Given the description of an element on the screen output the (x, y) to click on. 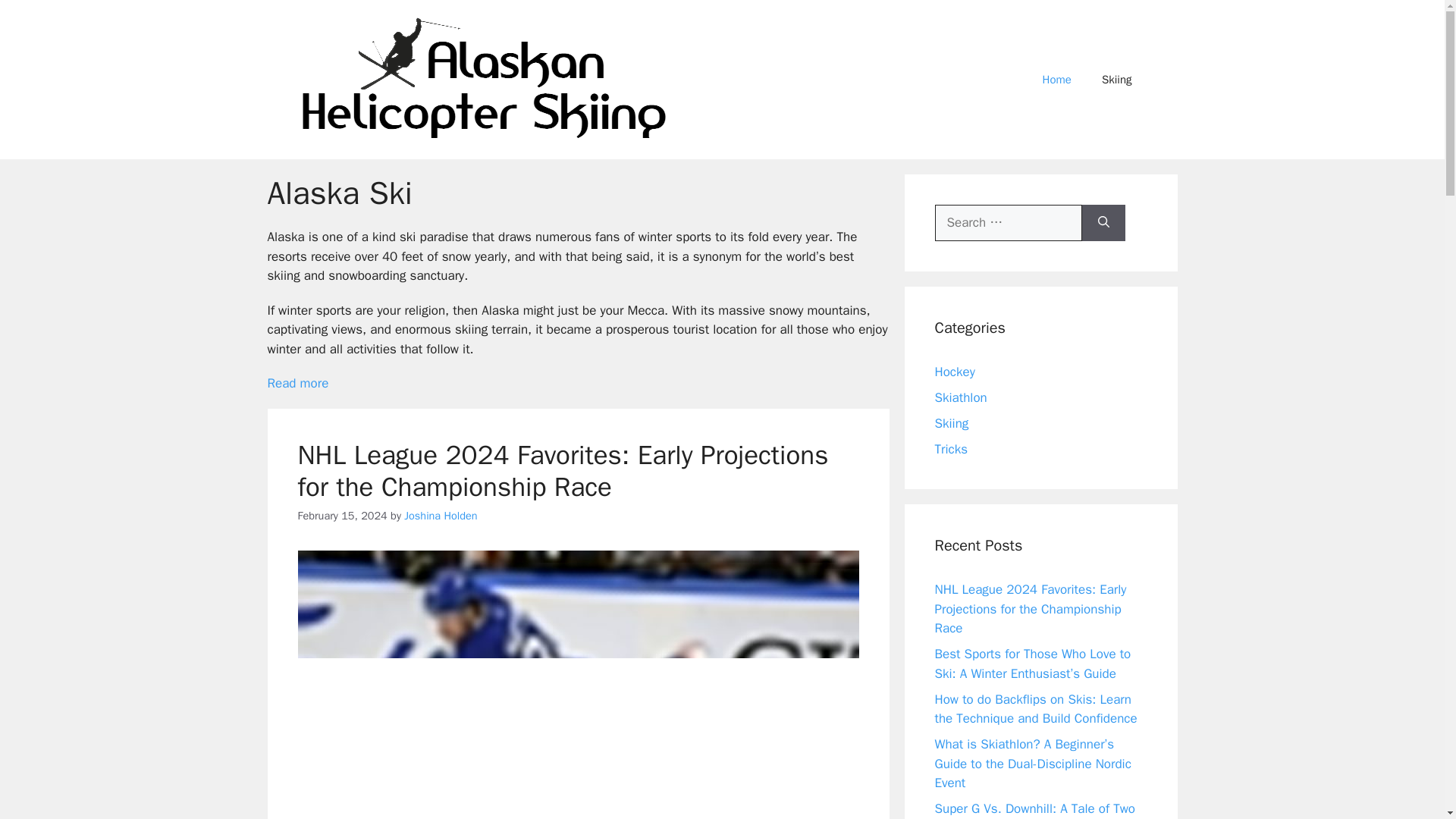
Joshina Holden (440, 515)
Read more (297, 383)
View all posts by Joshina Holden (440, 515)
Search for: (1007, 222)
Skiing (1116, 79)
Home (1056, 79)
